Given the description of an element on the screen output the (x, y) to click on. 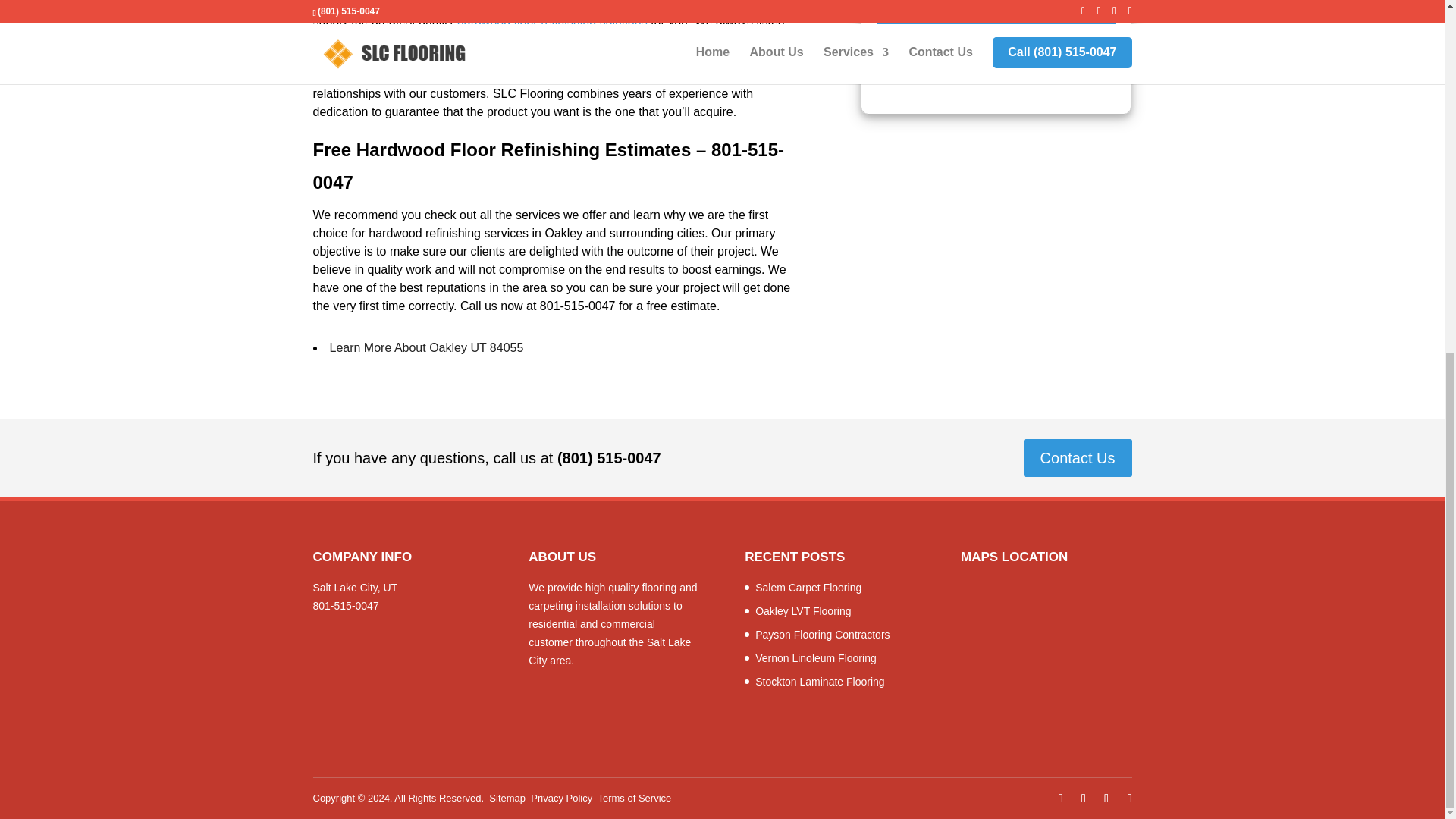
Learn More About Oakley UT 84055 (425, 347)
hardwood floor refinishing solutions (552, 20)
